Given the description of an element on the screen output the (x, y) to click on. 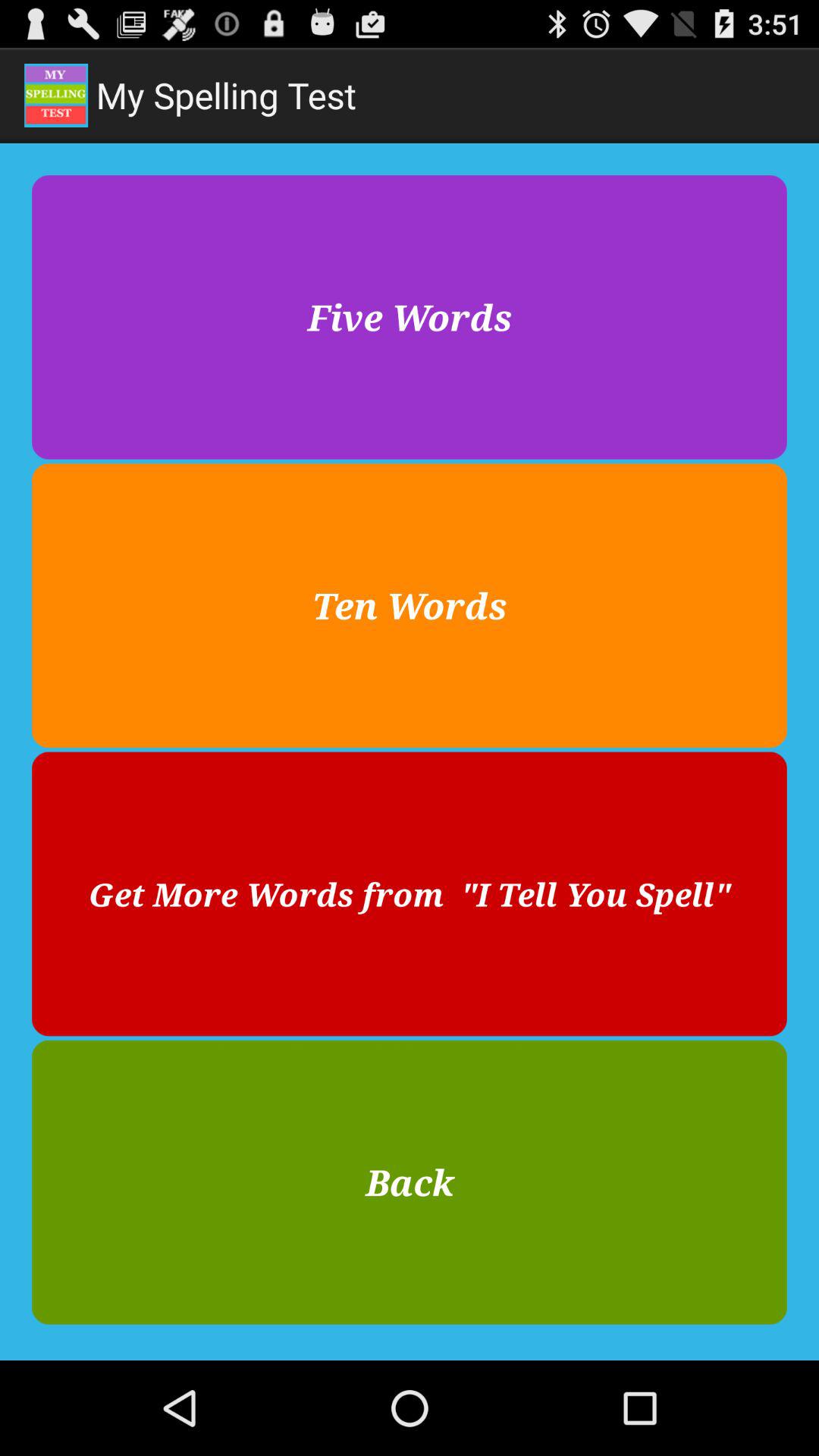
open the five words item (409, 317)
